Given the description of an element on the screen output the (x, y) to click on. 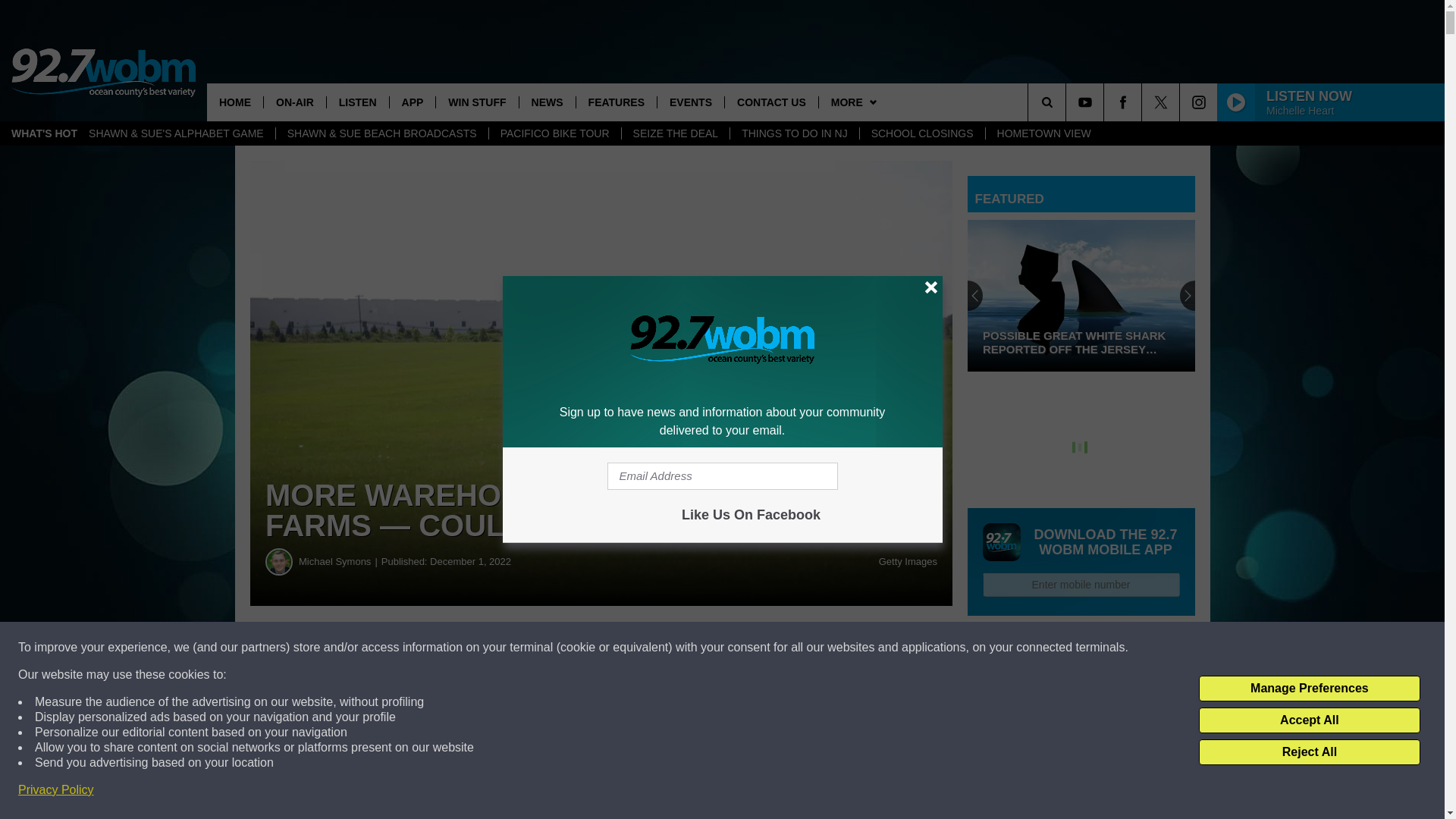
PACIFICO BIKE TOUR (554, 133)
SEARCH (1068, 102)
Reject All (1309, 751)
Manage Preferences (1309, 688)
SEARCH (1068, 102)
SCHOOL CLOSINGS (922, 133)
Share on Twitter (741, 647)
Privacy Policy (55, 789)
Share on Facebook (460, 647)
THINGS TO DO IN NJ (794, 133)
SEIZE THE DEAL (675, 133)
ON-AIR (294, 102)
HOMETOWN VIEW (1043, 133)
LISTEN (357, 102)
HOME (234, 102)
